Given the description of an element on the screen output the (x, y) to click on. 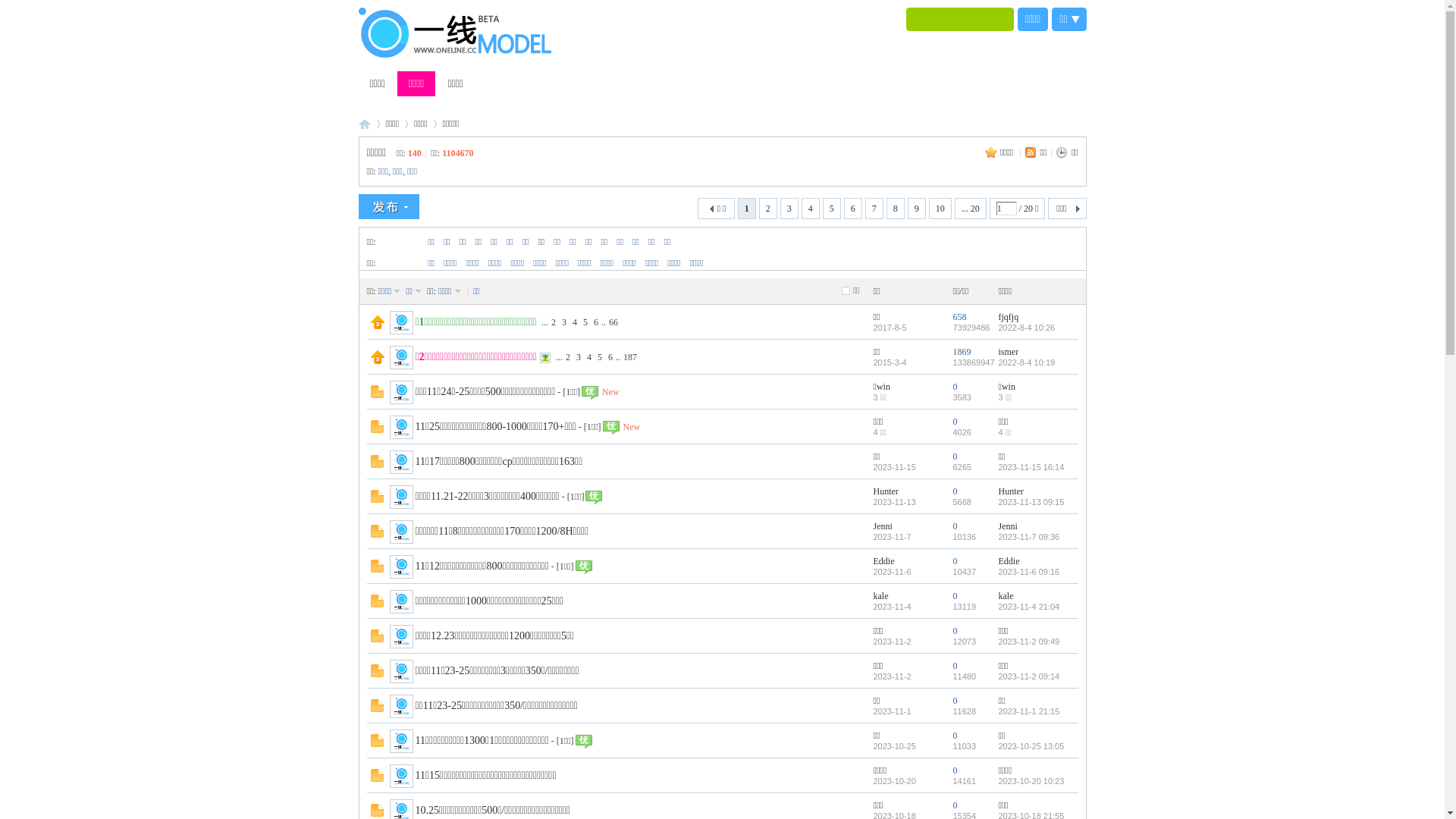
0 Element type: text (954, 560)
4 Element type: text (810, 208)
1869 Element type: text (961, 350)
... 20 Element type: text (970, 208)
Hunter Element type: text (885, 490)
2023-11-13 09:15 Element type: text (1030, 501)
6 Element type: text (595, 322)
0 Element type: text (954, 734)
0 Element type: text (954, 664)
2023-10-25 13:05 Element type: text (1030, 745)
fjqfjq Element type: text (1007, 315)
2023-10-20 10:23 Element type: text (1030, 780)
2023-11-2 09:14 Element type: text (1028, 675)
2023-11-6 09:16 Element type: text (1028, 571)
0 Element type: text (954, 490)
kale Element type: text (1005, 594)
5 Element type: text (599, 357)
Eddie Element type: text (883, 560)
0 Element type: text (954, 629)
2022-8-4 10:19 Element type: text (1025, 362)
6 Element type: text (853, 208)
2023-11-4 21:04 Element type: text (1028, 606)
658 Element type: text (959, 315)
187 Element type: text (630, 357)
2023-11-2 09:49 Element type: text (1028, 641)
0 Element type: text (954, 525)
0 Element type: text (954, 455)
New Element type: text (631, 426)
0 Element type: text (954, 699)
6 Element type: text (610, 357)
Hunter Element type: text (1009, 490)
2022-8-4 10:26 Element type: text (1025, 327)
2023-11-1 21:15 Element type: text (1028, 710)
5 Element type: text (831, 208)
0 Element type: text (954, 420)
Eddie Element type: text (1008, 560)
8 Element type: text (895, 208)
2 Element type: text (567, 357)
66 Element type: text (613, 322)
2023-11-15 16:14 Element type: text (1030, 466)
New Element type: text (610, 391)
3 Element type: text (789, 208)
2 Element type: text (553, 322)
7 Element type: text (874, 208)
4 Element type: text (588, 357)
0 Element type: text (954, 804)
4 Element type: text (574, 322)
2023-11-7 09:36 Element type: text (1028, 536)
5 Element type: text (585, 322)
9 Element type: text (916, 208)
2 Element type: text (768, 208)
0 Element type: text (954, 594)
10 Element type: text (939, 208)
kale Element type: text (880, 594)
3 Element type: text (563, 322)
0 Element type: text (954, 385)
3 Element type: text (578, 357)
0 Element type: text (954, 769)
Jenni Element type: text (882, 525)
Jenni Element type: text (1006, 525)
ismer Element type: text (1007, 350)
